Given the description of an element on the screen output the (x, y) to click on. 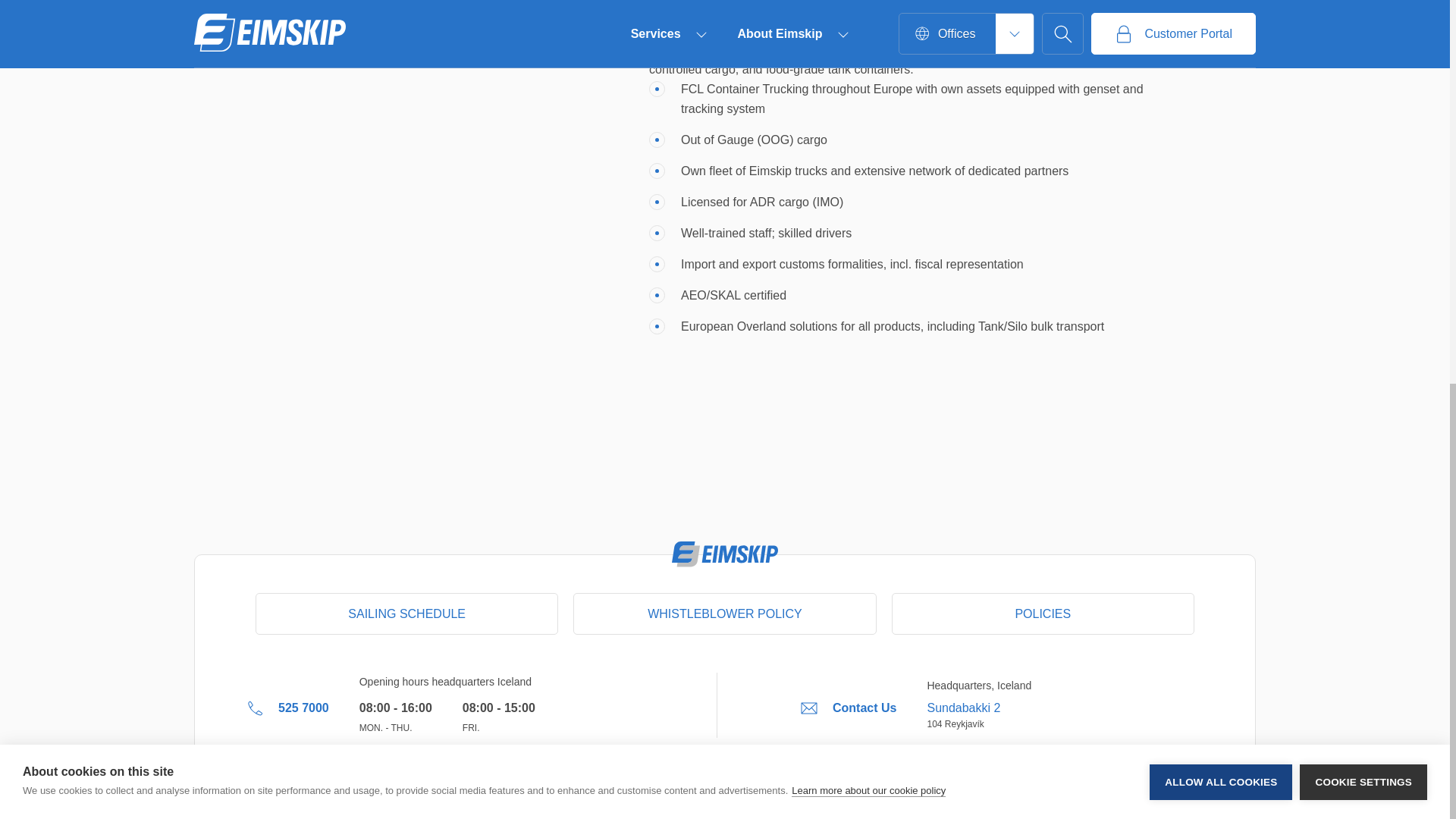
Learn more about our cookie policy (868, 141)
ALLOW ALL COOKIES (1221, 118)
COOKIE SETTINGS (1363, 99)
